Given the description of an element on the screen output the (x, y) to click on. 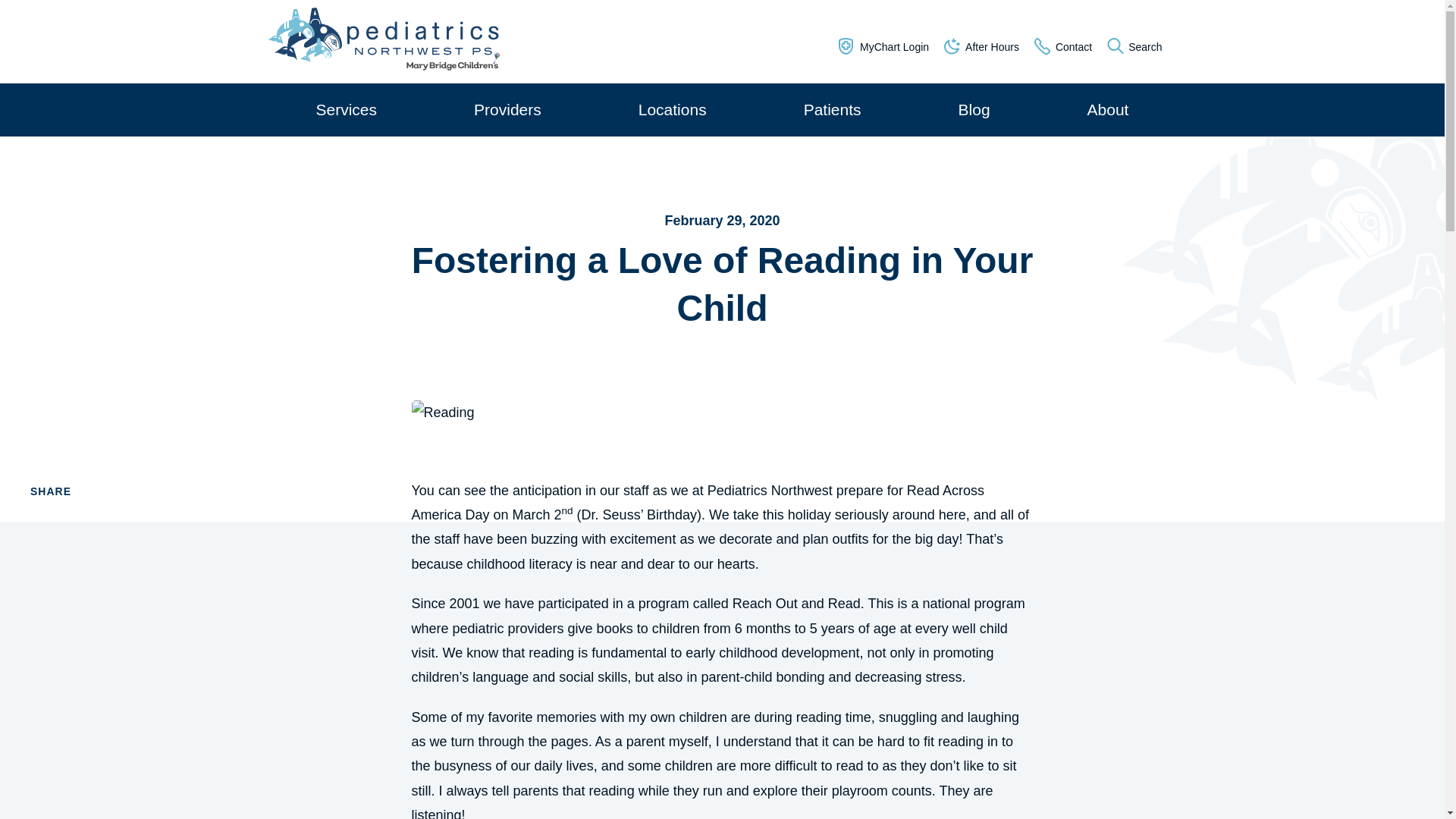
Services (346, 109)
Providers (507, 109)
Pediatrics Northwest (382, 42)
Patients (832, 109)
Locations (672, 109)
